Given the description of an element on the screen output the (x, y) to click on. 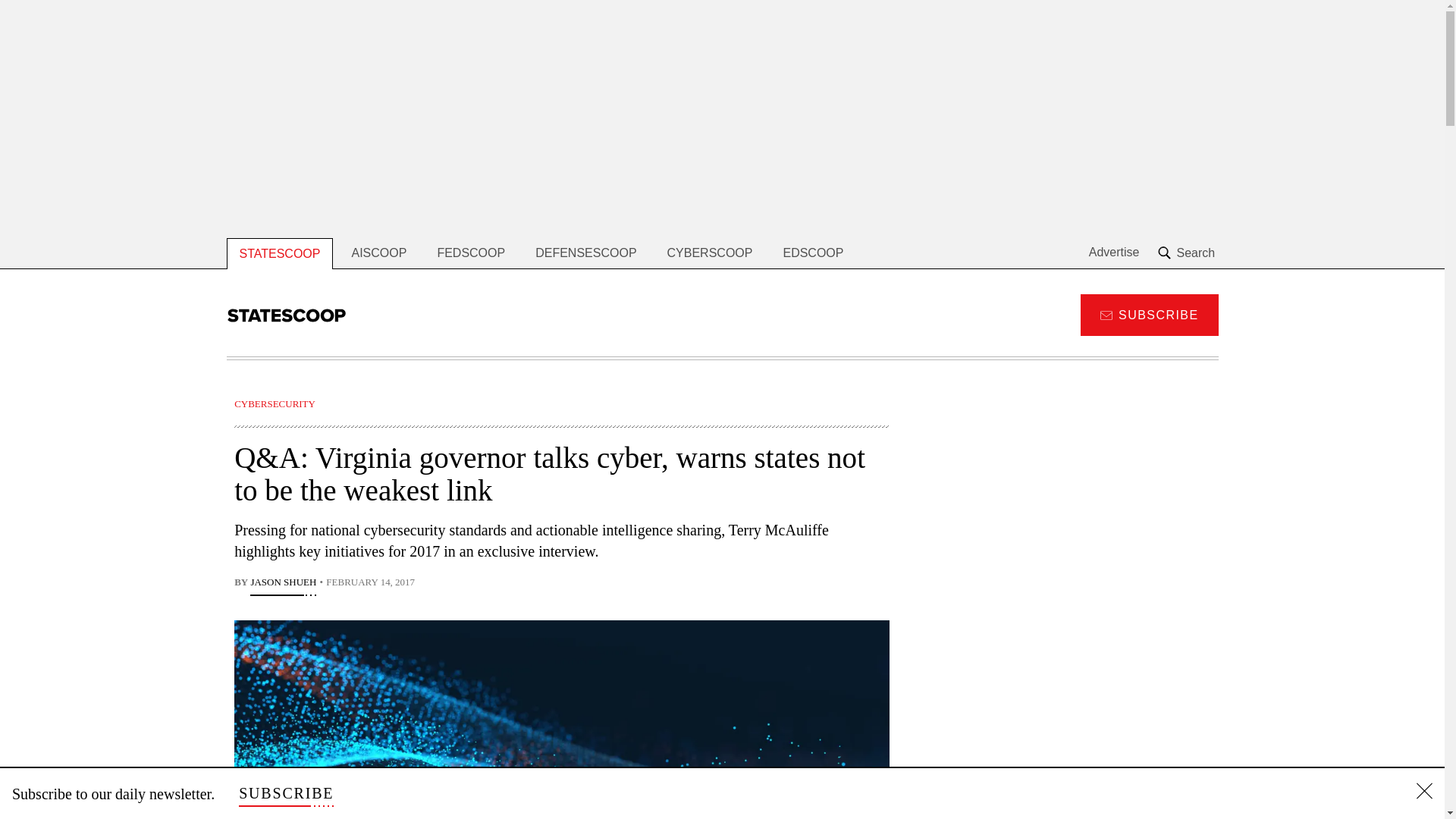
CYBERSCOOP (710, 253)
Search (1187, 252)
AISCOOP (379, 253)
Advertise (1114, 252)
SUBSCRIBE (1148, 314)
FEDSCOOP (470, 253)
EDSCOOP (813, 253)
Jason Shueh (282, 583)
SUBSCRIBE (285, 793)
